Given the description of an element on the screen output the (x, y) to click on. 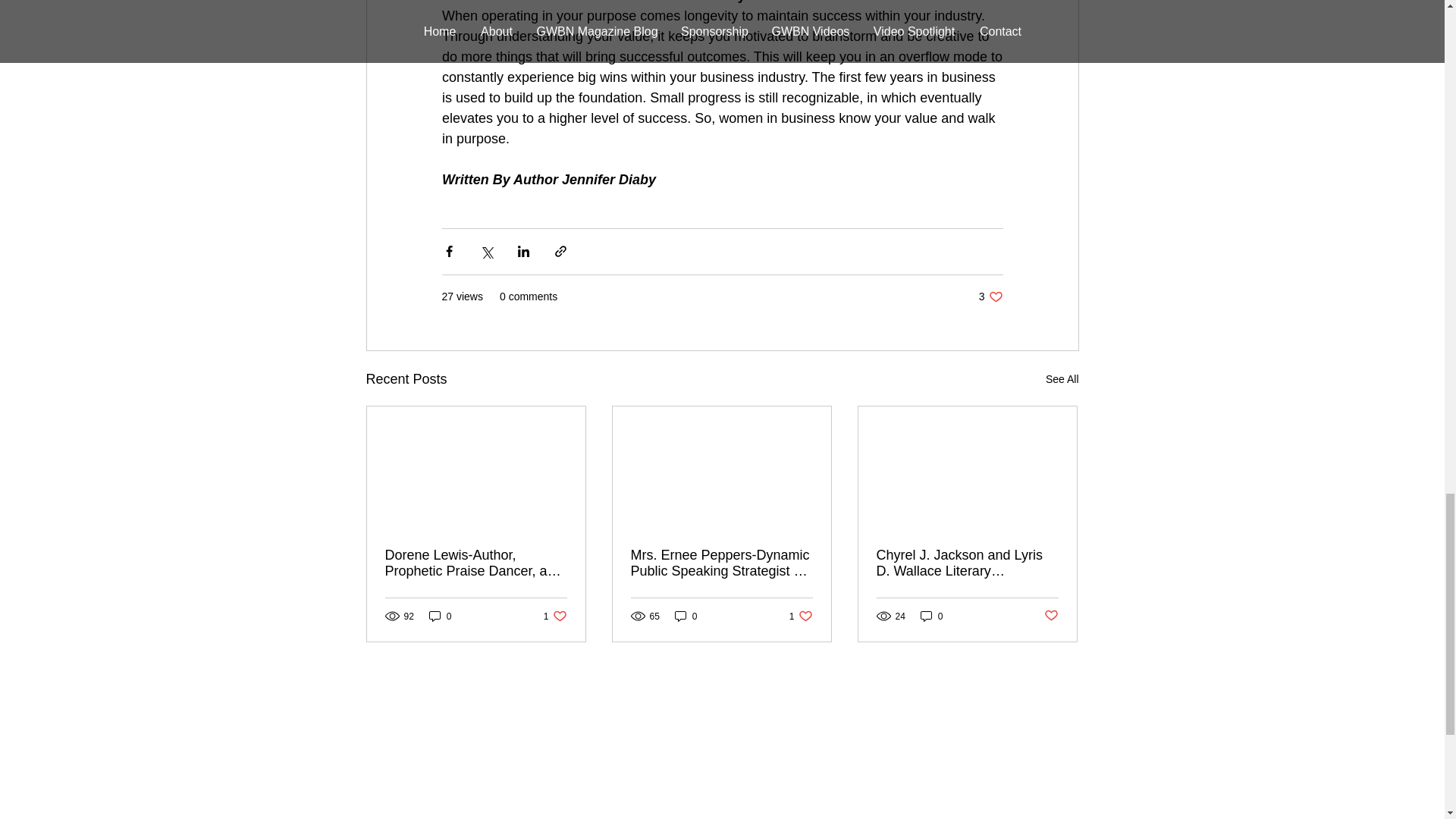
Dorene Lewis-Author, Prophetic Praise Dancer, and Speaker (990, 296)
0 (476, 563)
See All (440, 616)
